Given the description of an element on the screen output the (x, y) to click on. 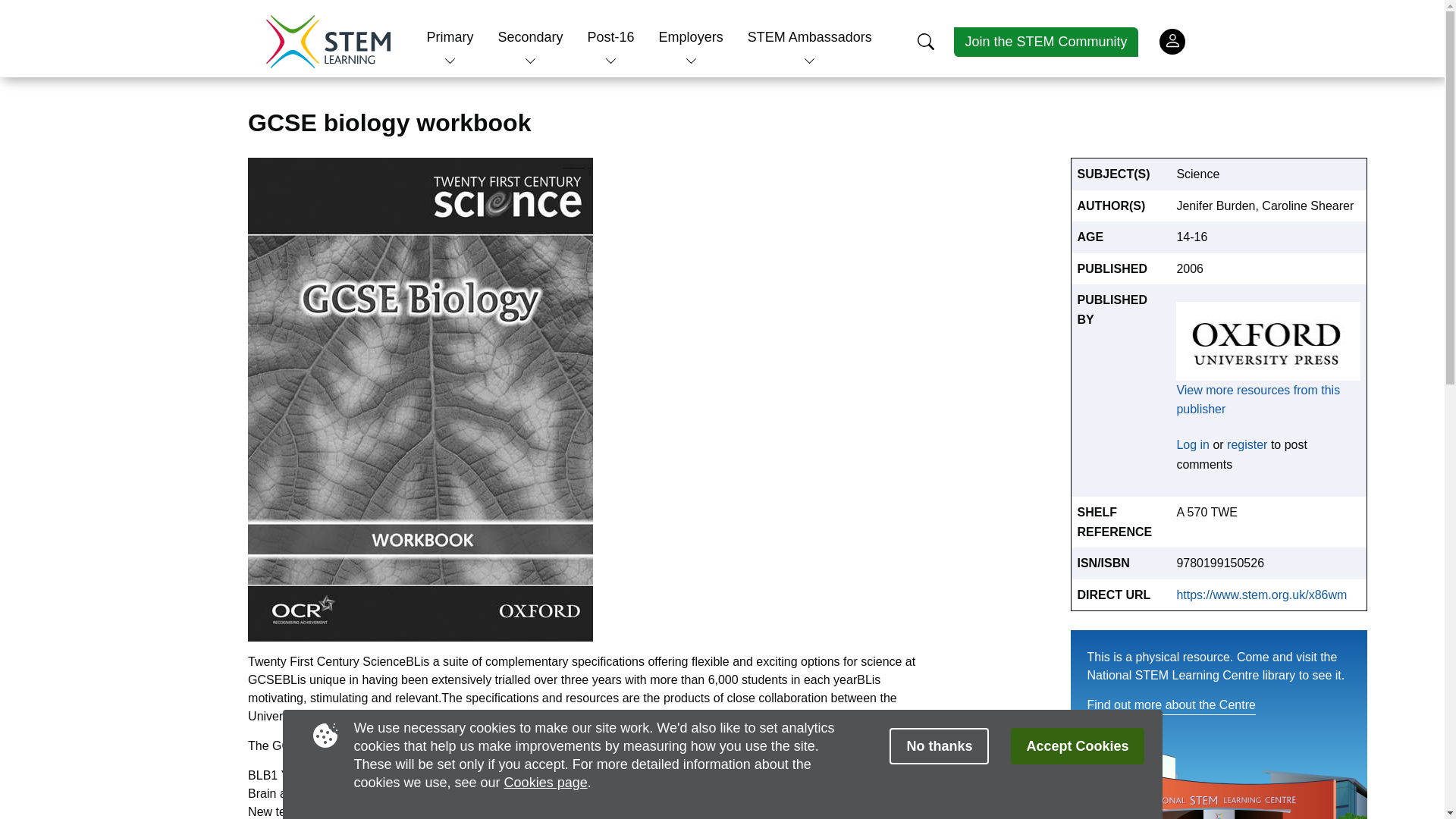
Oxford University Press (1267, 341)
Home (327, 40)
STEM Ambassadors (810, 37)
Primary (449, 37)
Post-16 (611, 37)
Employers (691, 37)
Secondary (529, 37)
